Given the description of an element on the screen output the (x, y) to click on. 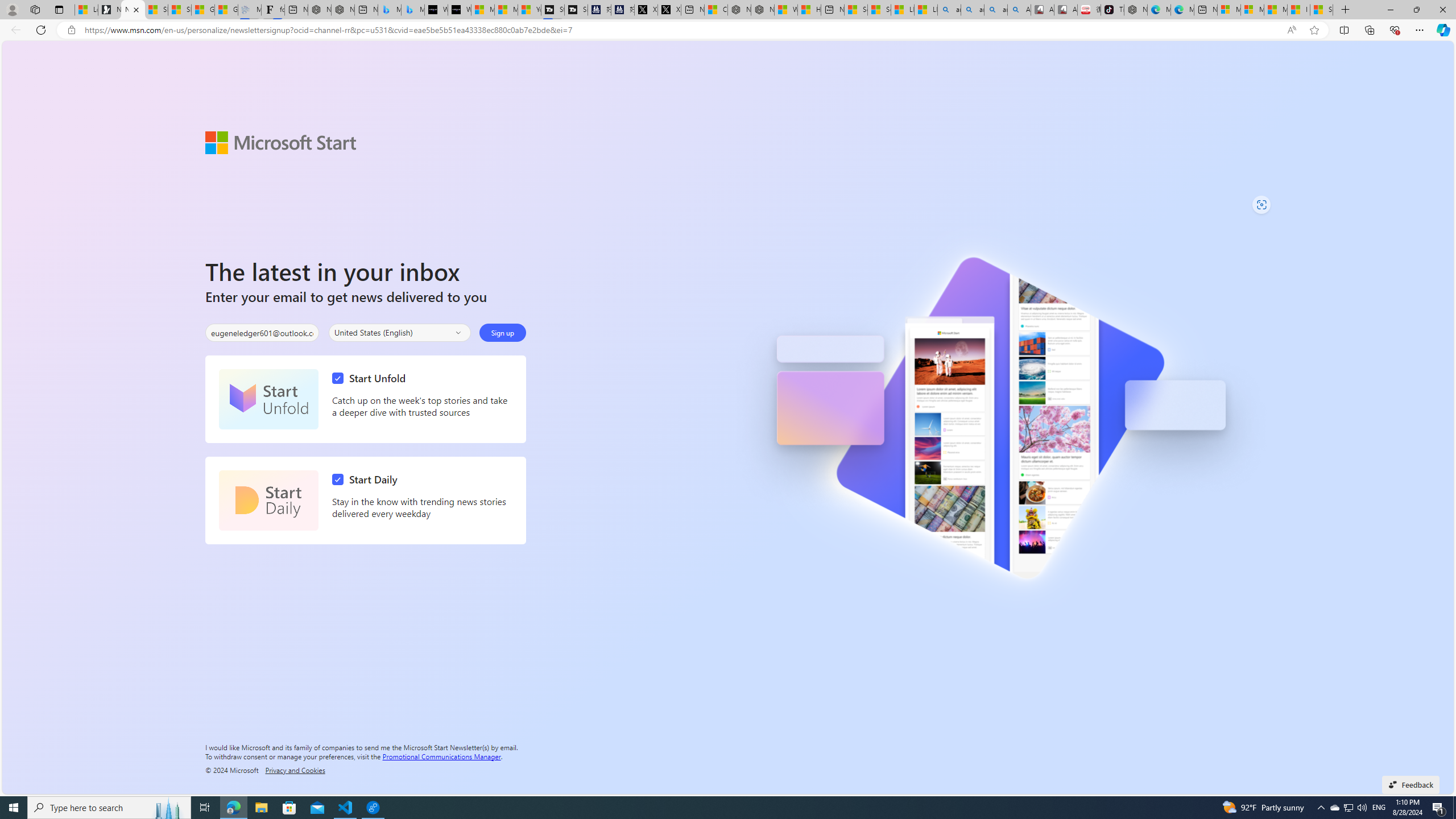
Privacy and Cookies (294, 769)
Nordace - #1 Japanese Best-Seller - Siena Smart Backpack (342, 9)
Nordace - Summer Adventures 2024 (761, 9)
Microsoft Start Sports (482, 9)
